Given the description of an element on the screen output the (x, y) to click on. 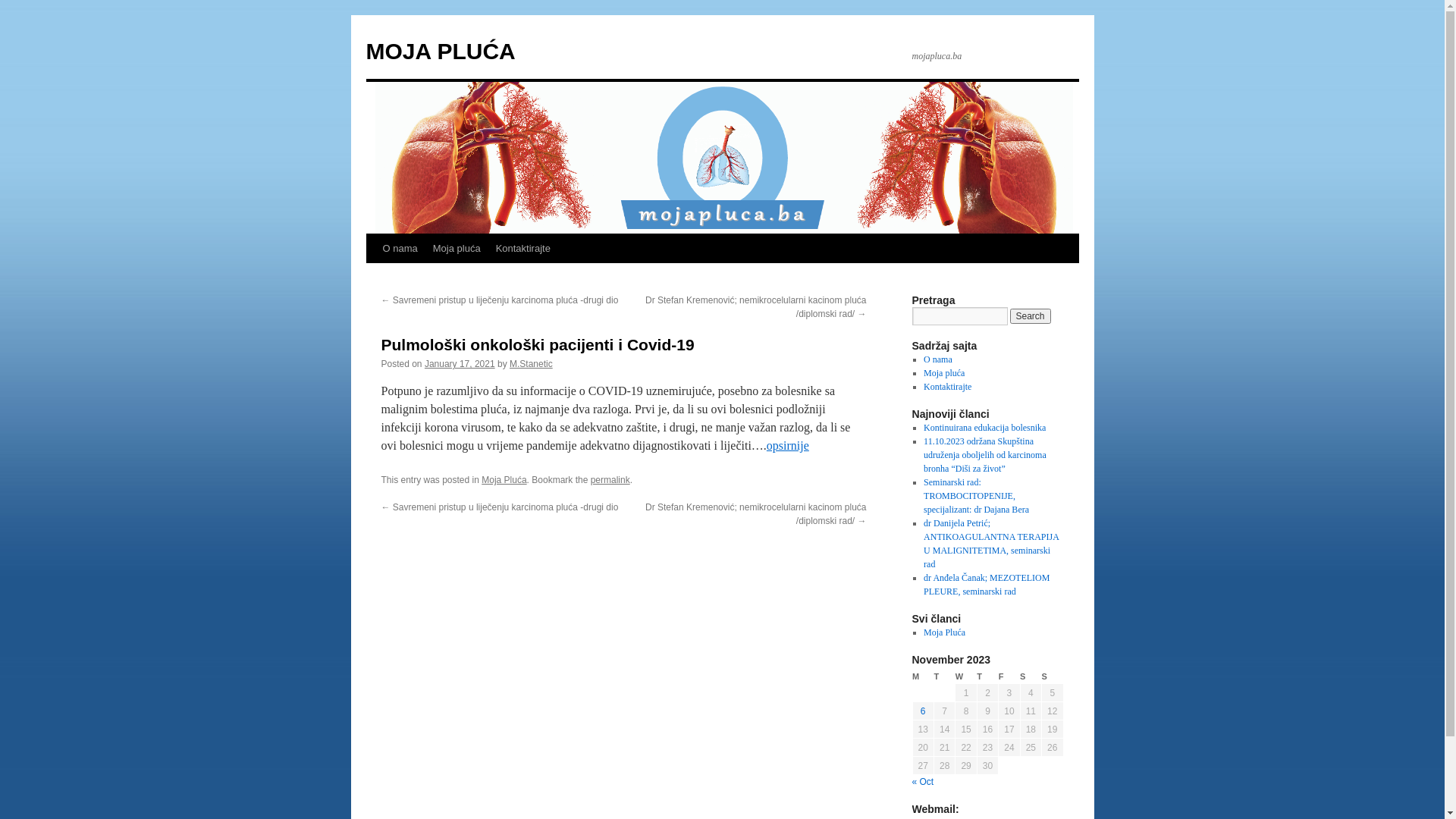
Kontaktirajte Element type: text (947, 386)
6 Element type: text (922, 711)
O nama Element type: text (937, 359)
Search Element type: text (1030, 315)
M.Stanetic Element type: text (530, 363)
permalink Element type: text (610, 479)
O nama Element type: text (399, 248)
Skip to content Element type: text (372, 276)
opsirnije Element type: text (787, 445)
January 17, 2021 Element type: text (459, 363)
Kontinuirana edukacija bolesnika Element type: text (984, 427)
Kontaktirajte Element type: text (523, 248)
